Given the description of an element on the screen output the (x, y) to click on. 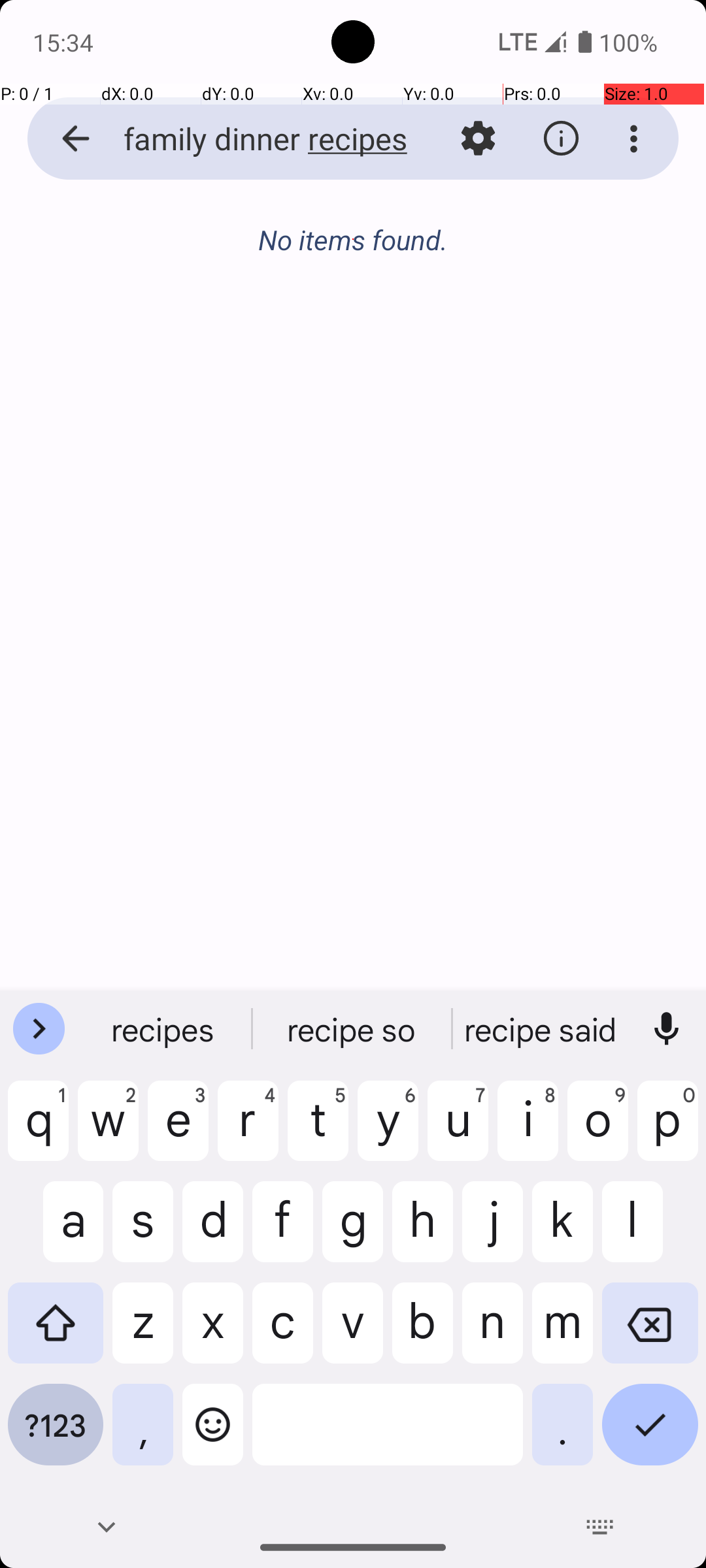
family dinner recipes Element type: android.widget.EditText (252, 138)
recipes Element type: android.widget.FrameLayout (163, 1028)
recipe so Element type: android.widget.FrameLayout (352, 1028)
recipe said Element type: android.widget.FrameLayout (541, 1028)
